Given the description of an element on the screen output the (x, y) to click on. 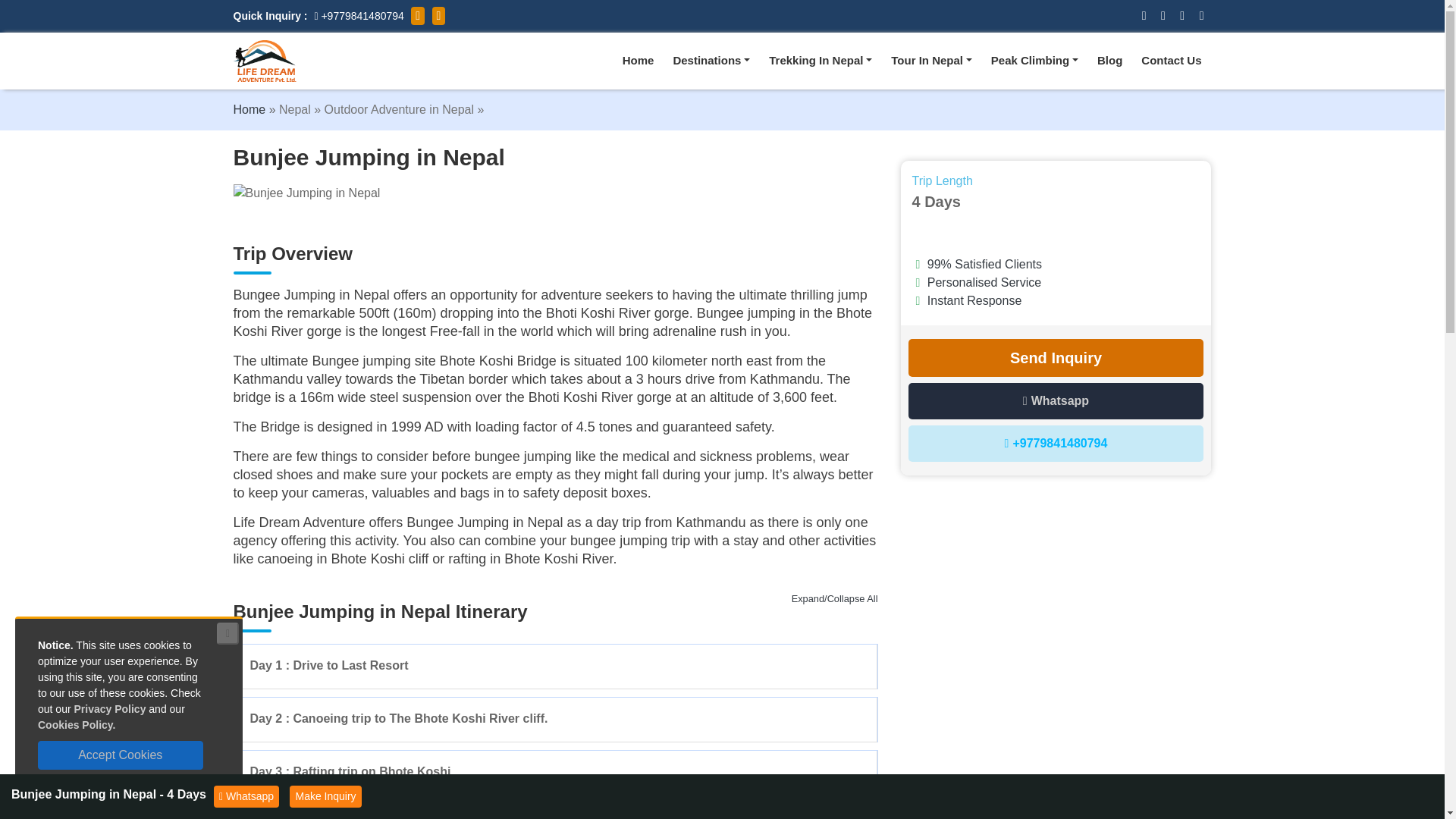
Home (637, 60)
Destinations (710, 60)
